Given the description of an element on the screen output the (x, y) to click on. 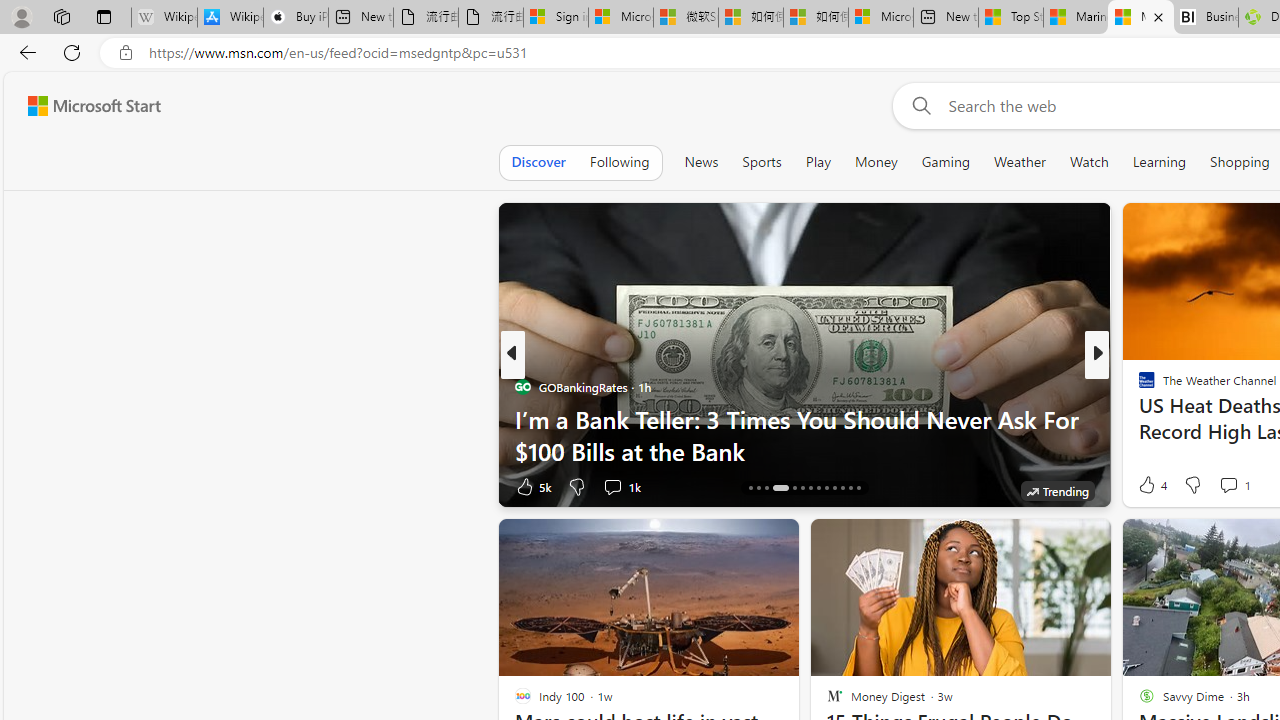
Buy iPad - Apple (295, 17)
Groovy Era (1138, 418)
AutomationID: tab-26 (857, 487)
Play (817, 161)
spot on news (1138, 418)
Skip to footer (82, 105)
View comments 1 Comment (1234, 484)
View comments 1k Comment (620, 486)
AutomationID: tab-16 (765, 487)
Gaming (945, 162)
38 Like (1149, 486)
